Given the description of an element on the screen output the (x, y) to click on. 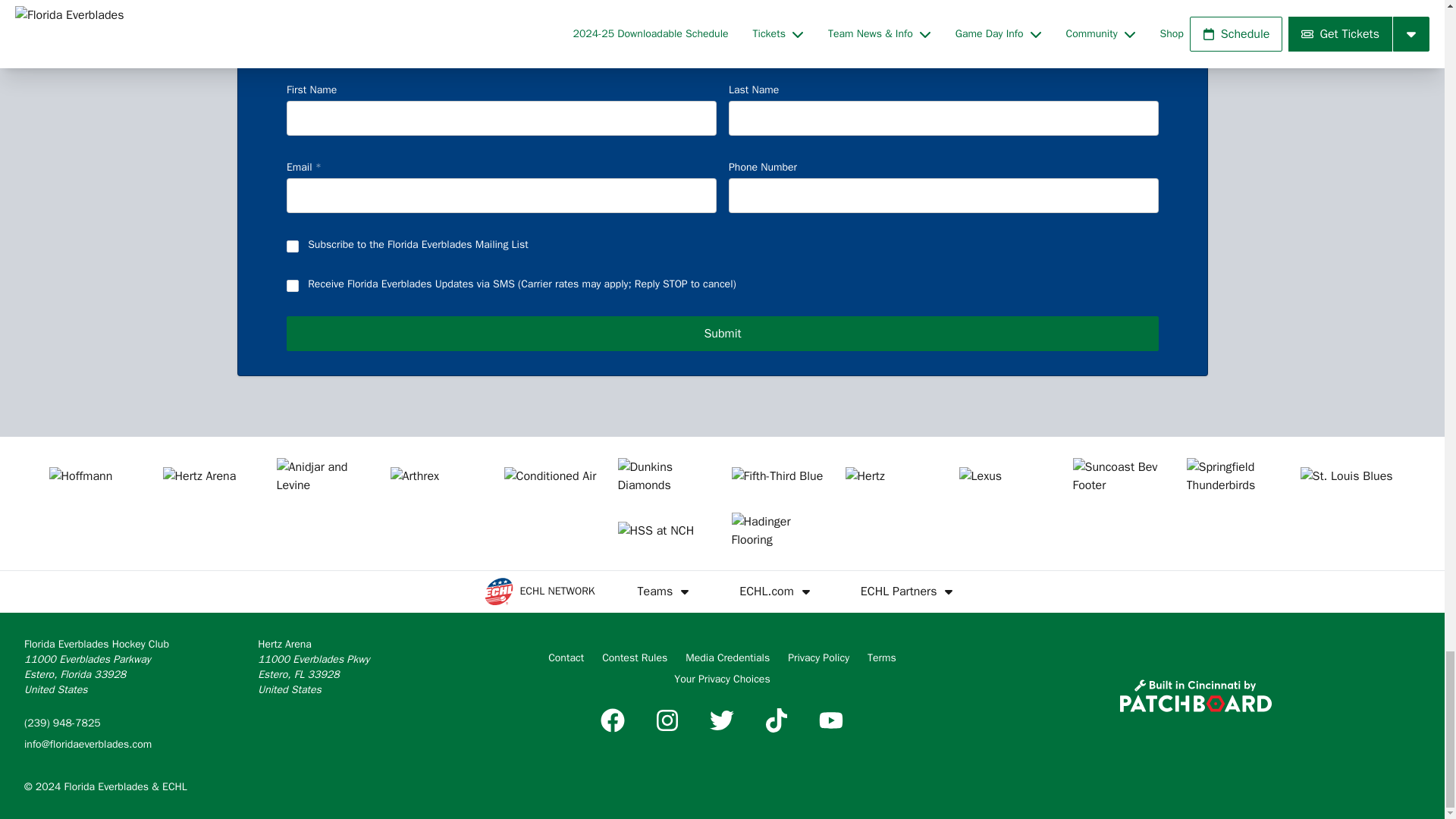
on (292, 246)
TikTok (776, 720)
Built in Cincinnati by Patchboard (1195, 695)
Twitter (721, 720)
Instagram (667, 720)
YouTube (830, 720)
Facebook (612, 720)
on (292, 285)
